Given the description of an element on the screen output the (x, y) to click on. 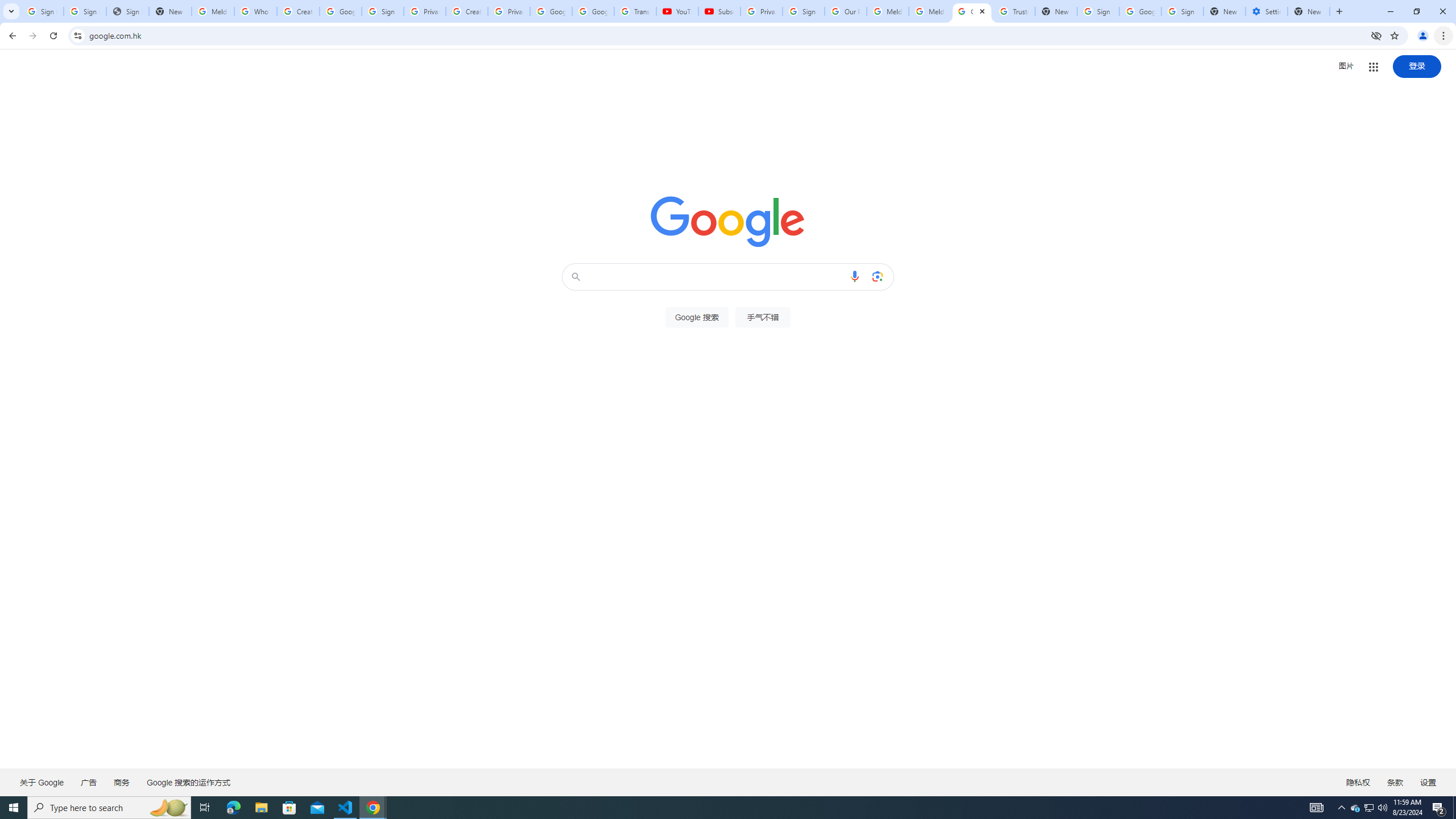
Sign in - Google Accounts (85, 11)
Sign in - Google Accounts (382, 11)
Sign in - Google Accounts (1182, 11)
Who is my administrator? - Google Account Help (255, 11)
Google Account (592, 11)
Settings - Addresses and more (1266, 11)
